Given the description of an element on the screen output the (x, y) to click on. 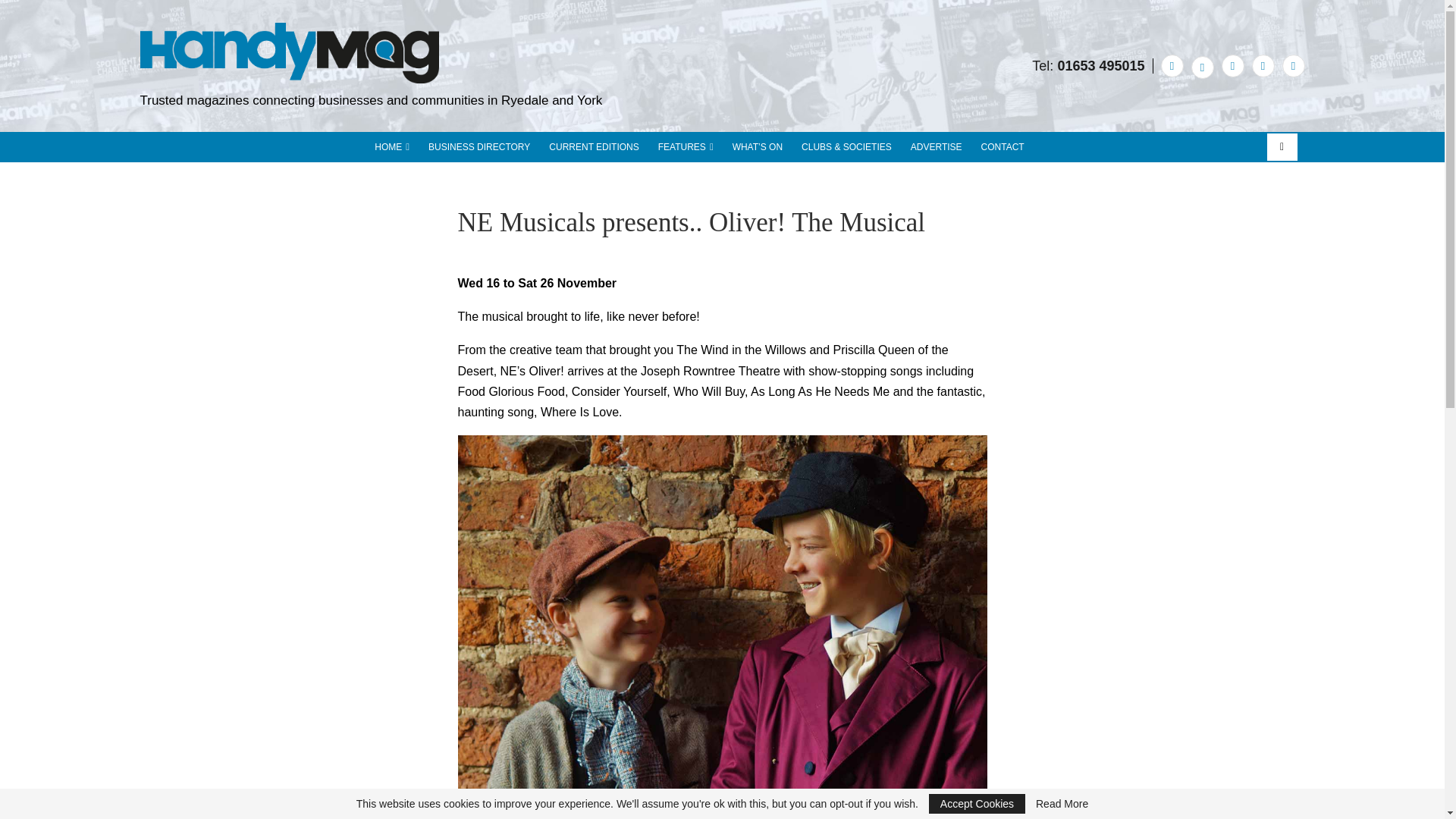
CURRENT EDITIONS (593, 146)
BUSINESS DIRECTORY (478, 146)
CONTACT (1003, 146)
ADVERTISE (936, 146)
HOME (391, 146)
FEATURES (685, 146)
